Given the description of an element on the screen output the (x, y) to click on. 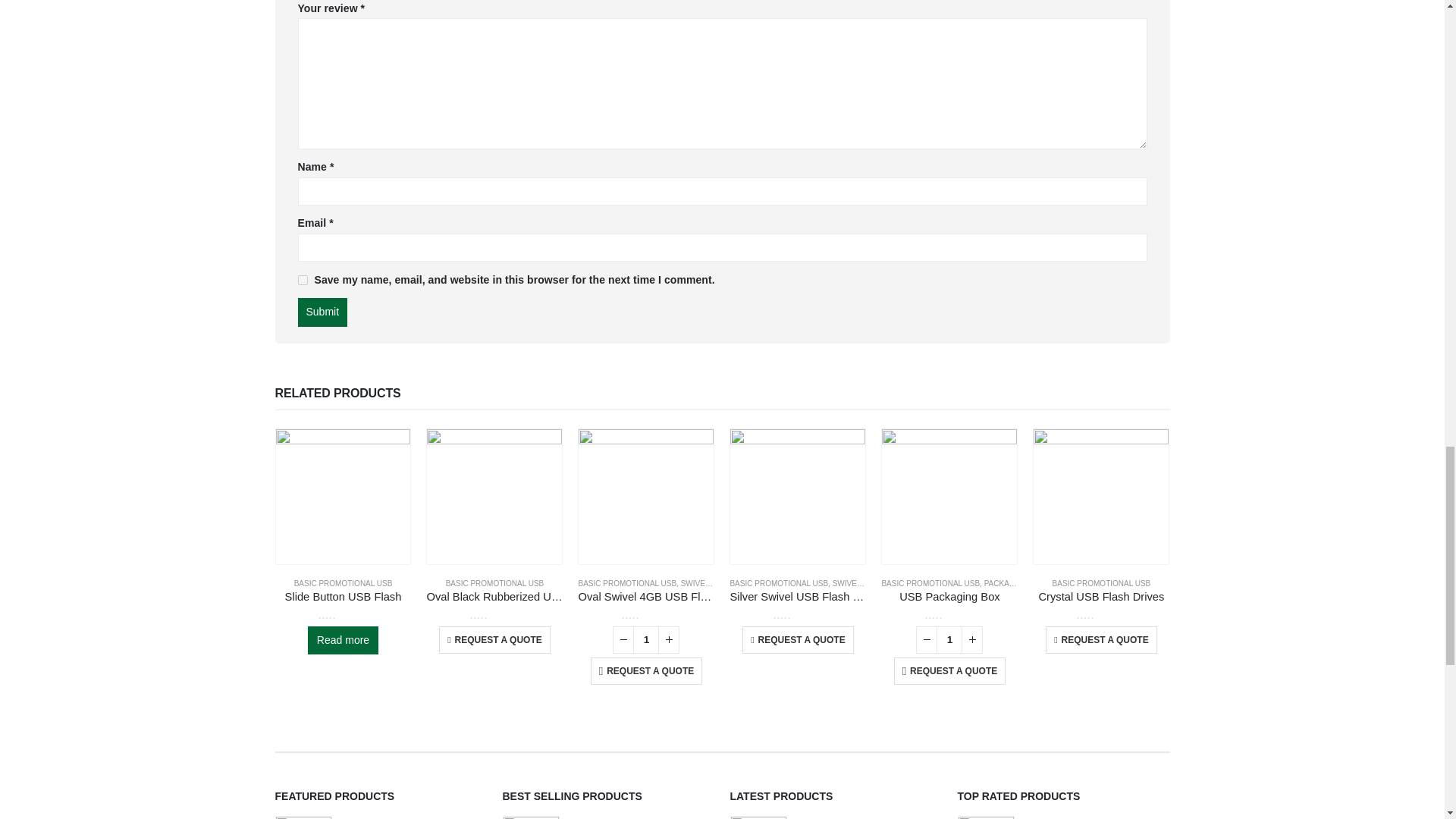
Submit (322, 312)
1 (646, 639)
1 (949, 639)
yes (302, 280)
0 (493, 614)
0 (342, 614)
